Given the description of an element on the screen output the (x, y) to click on. 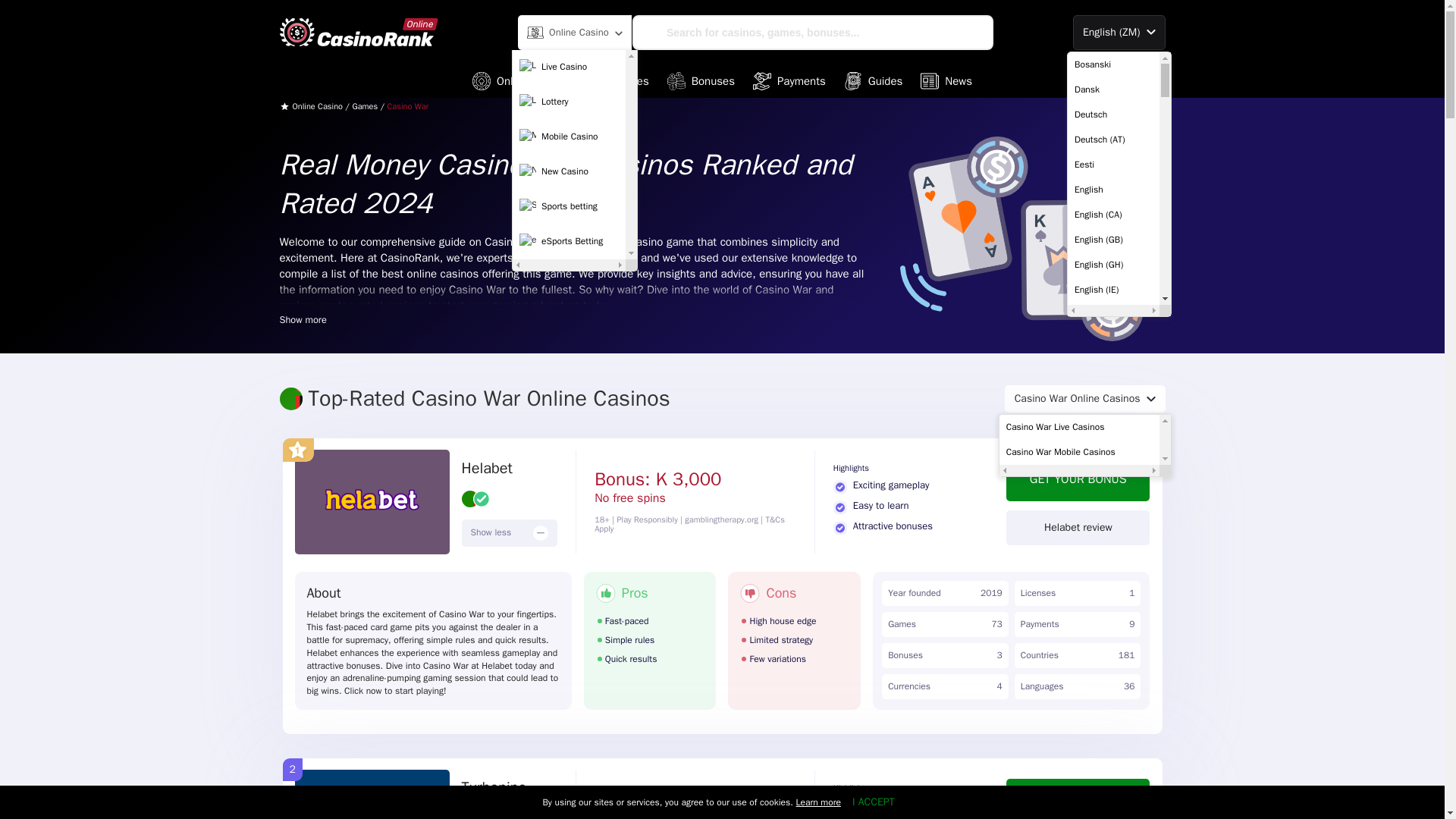
New Casino (569, 172)
Mobile Casino (569, 136)
Deutsch (1113, 113)
eSports Betting (569, 241)
English (1113, 189)
Hrvatski (1113, 810)
Bosanski (1113, 63)
Eesti (1113, 163)
Dansk (1113, 89)
Live Casino (569, 67)
